Given the description of an element on the screen output the (x, y) to click on. 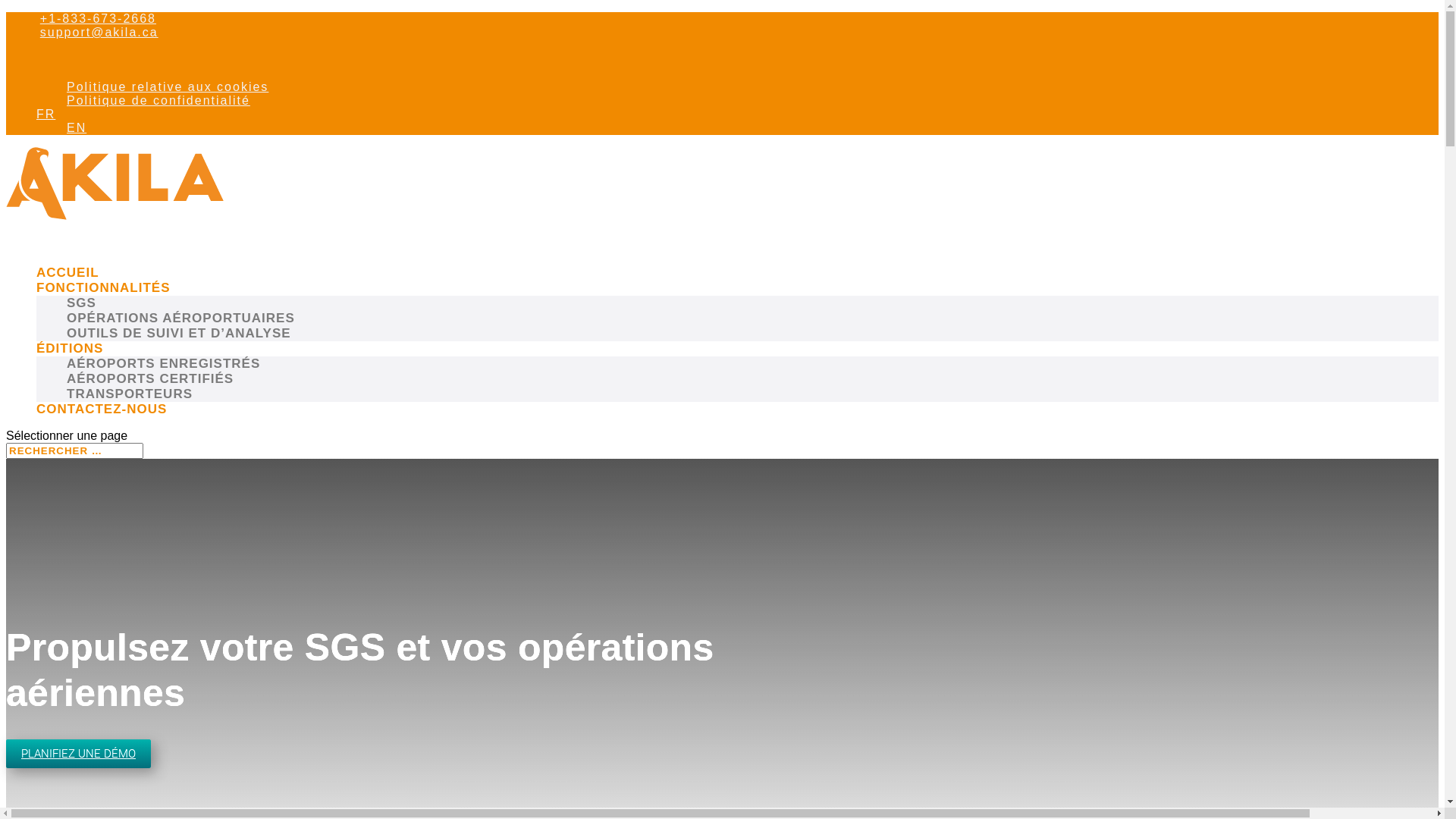
Politique relative aux cookies Element type: text (167, 86)
EN Element type: text (752, 127)
+1-833-673-2668 Element type: text (96, 18)
support@akila.ca Element type: text (97, 31)
TRANSPORTEURS Element type: text (129, 393)
SGS Element type: text (81, 302)
CONTACTEZ-NOUS Element type: text (101, 423)
ACCUEIL Element type: text (67, 287)
FR Element type: text (737, 114)
Rechercher: Element type: hover (74, 450)
